Given the description of an element on the screen output the (x, y) to click on. 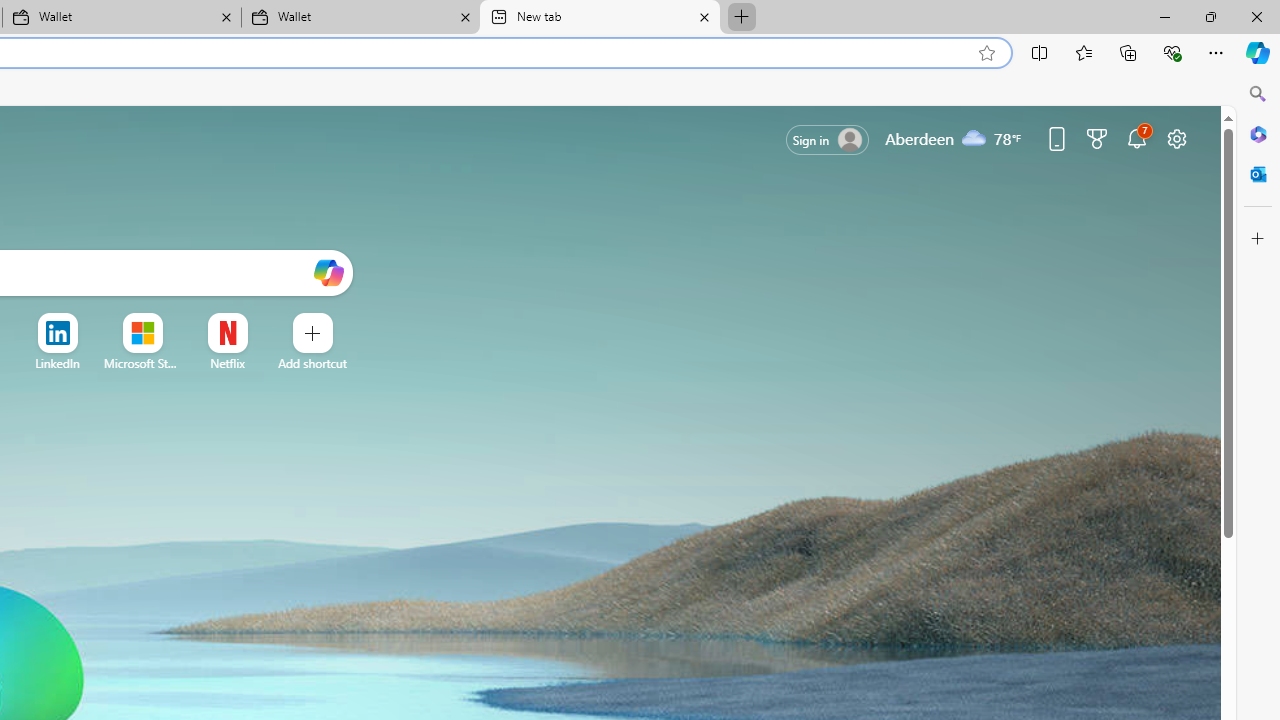
LinkedIn (56, 363)
